Given the description of an element on the screen output the (x, y) to click on. 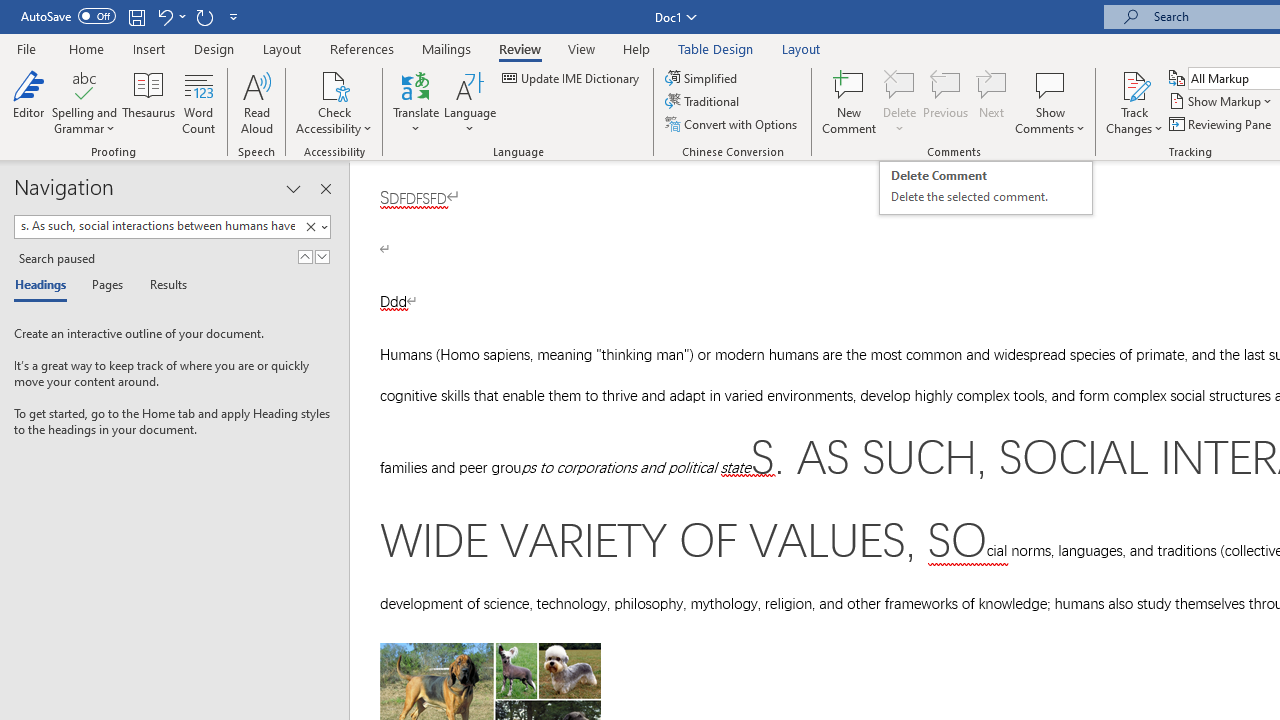
Language (470, 102)
Spelling and Grammar (84, 102)
Convert with Options... (732, 124)
Results (161, 285)
Table Design (715, 48)
Pages (986, 188)
Close pane (105, 285)
Headings (325, 188)
Undo Style (45, 285)
Check Accessibility (170, 15)
